Given the description of an element on the screen output the (x, y) to click on. 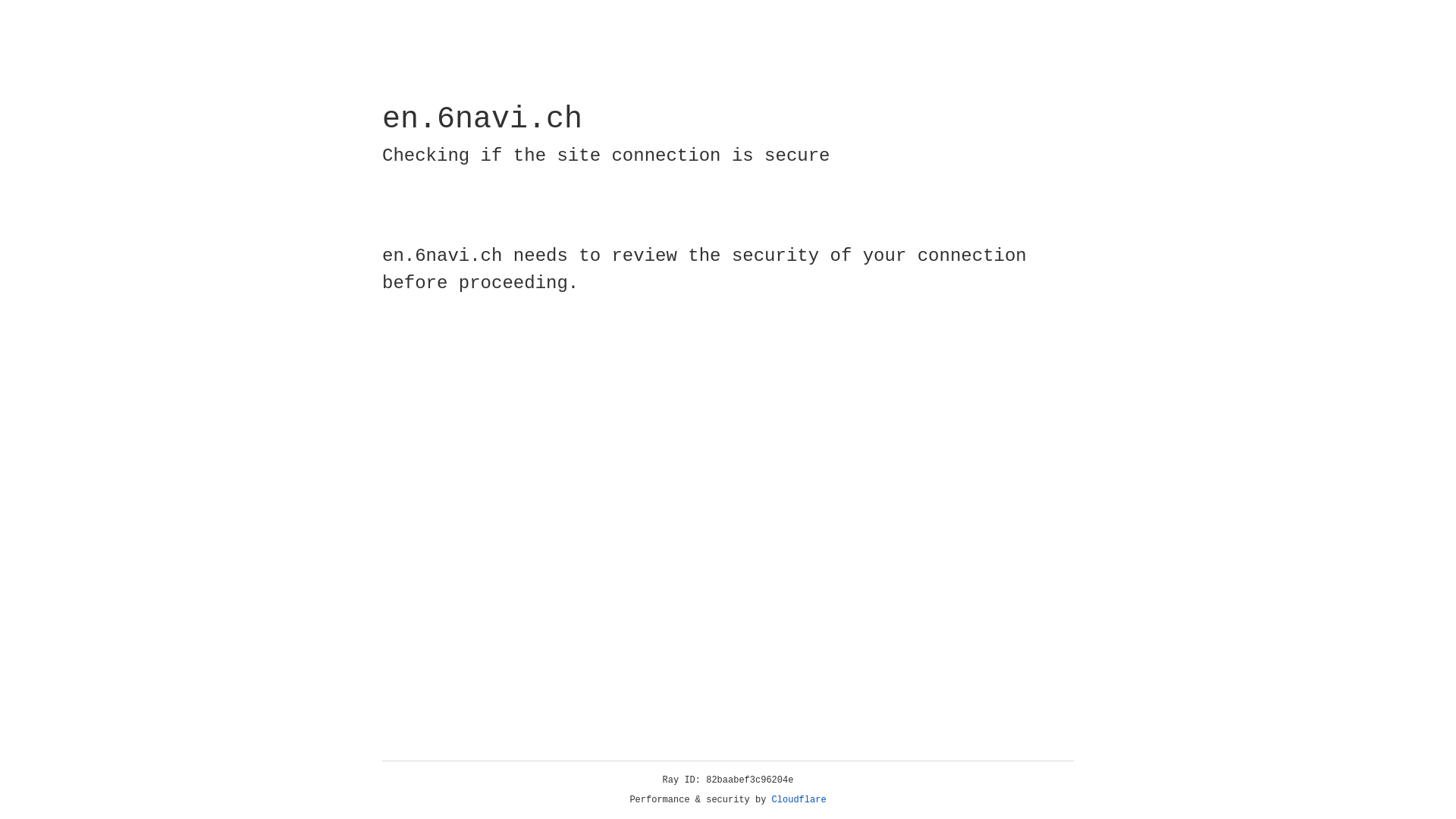
Cloudflare Element type: text (798, 799)
